Given the description of an element on the screen output the (x, y) to click on. 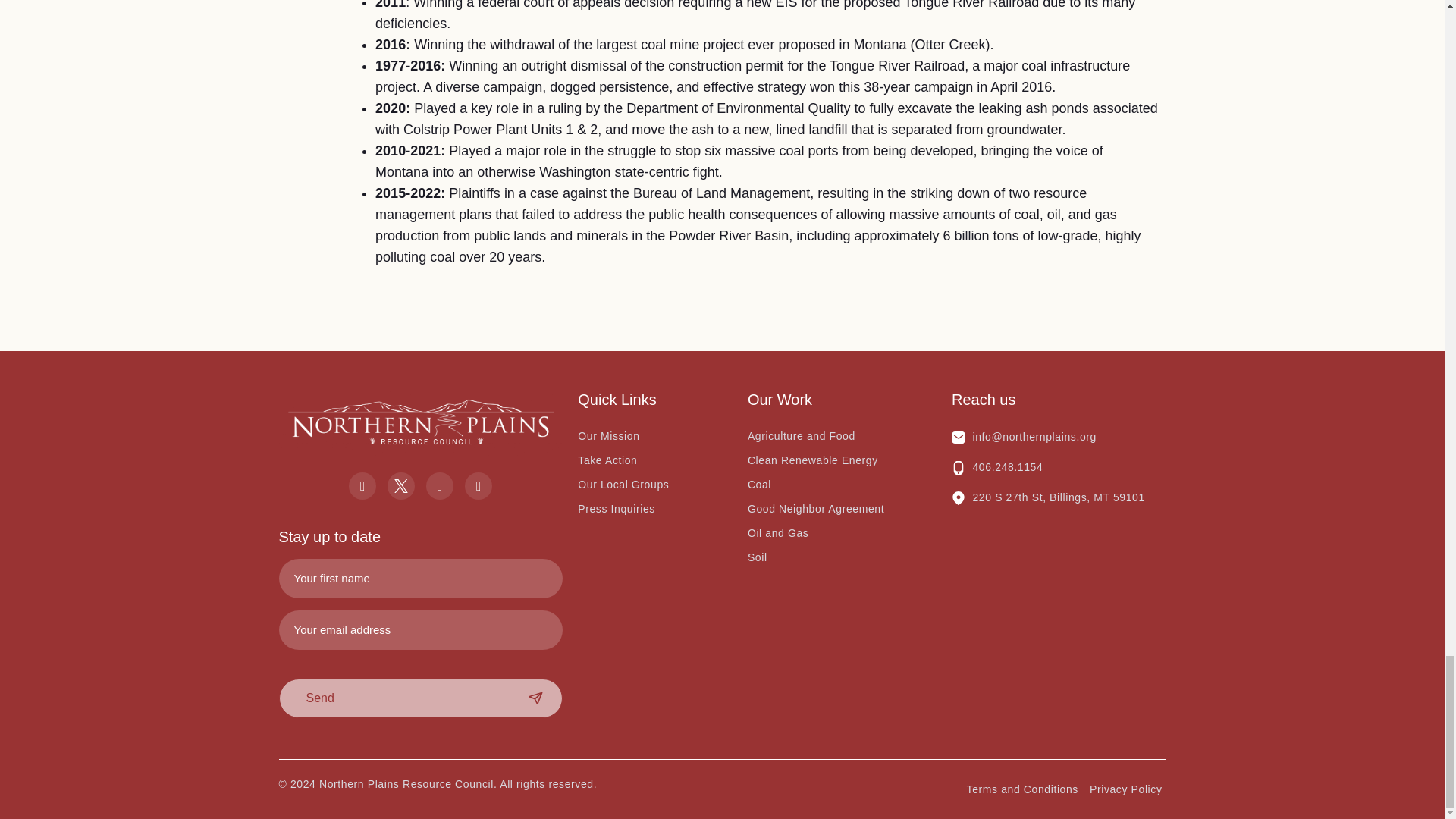
Send (421, 698)
